Given the description of an element on the screen output the (x, y) to click on. 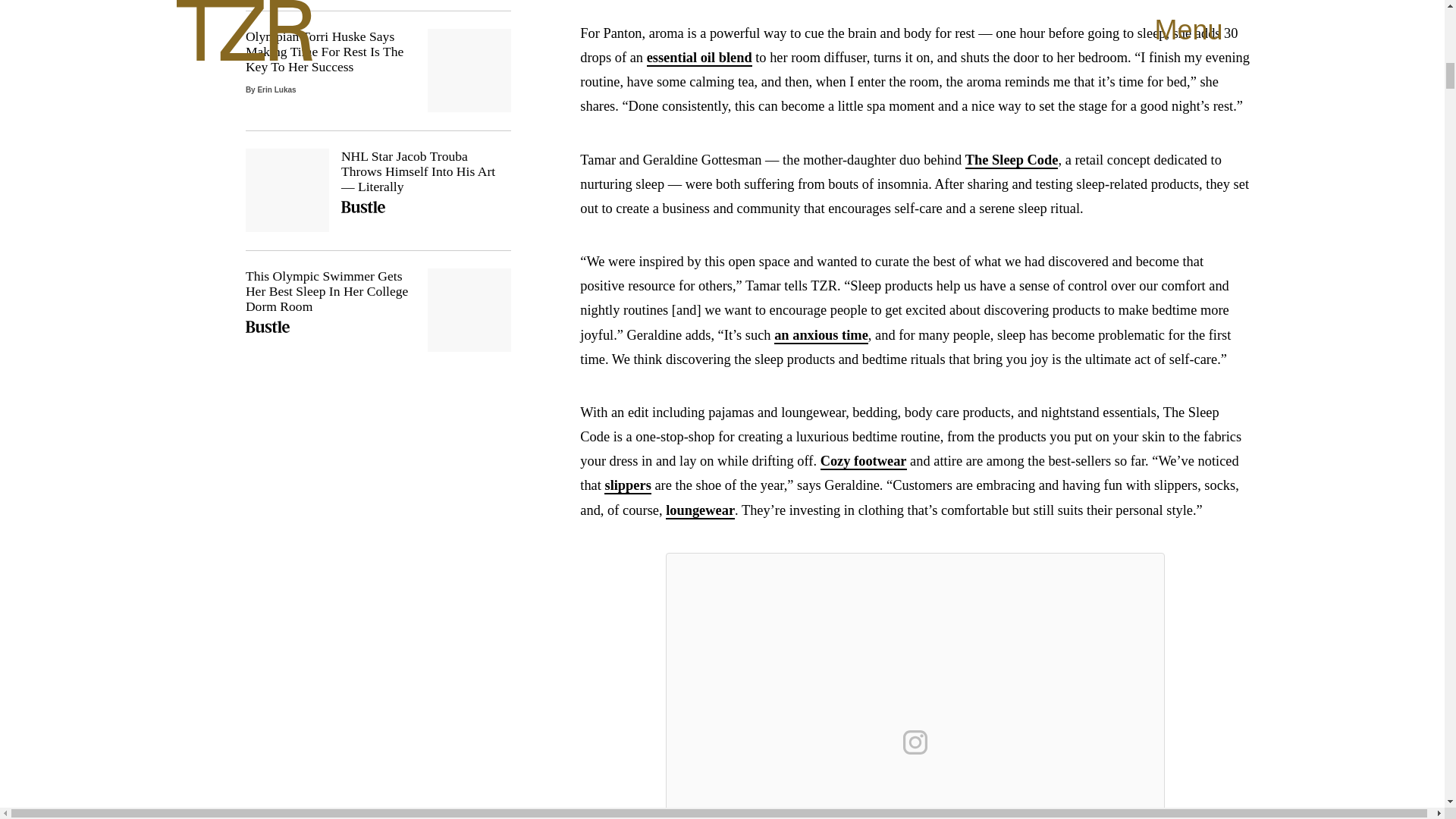
The Sleep Code (1011, 159)
View on Instagram (914, 741)
slippers (627, 485)
essential oil blend (699, 57)
an anxious time (820, 335)
Cozy footwear (864, 461)
loungewear (700, 510)
